Given the description of an element on the screen output the (x, y) to click on. 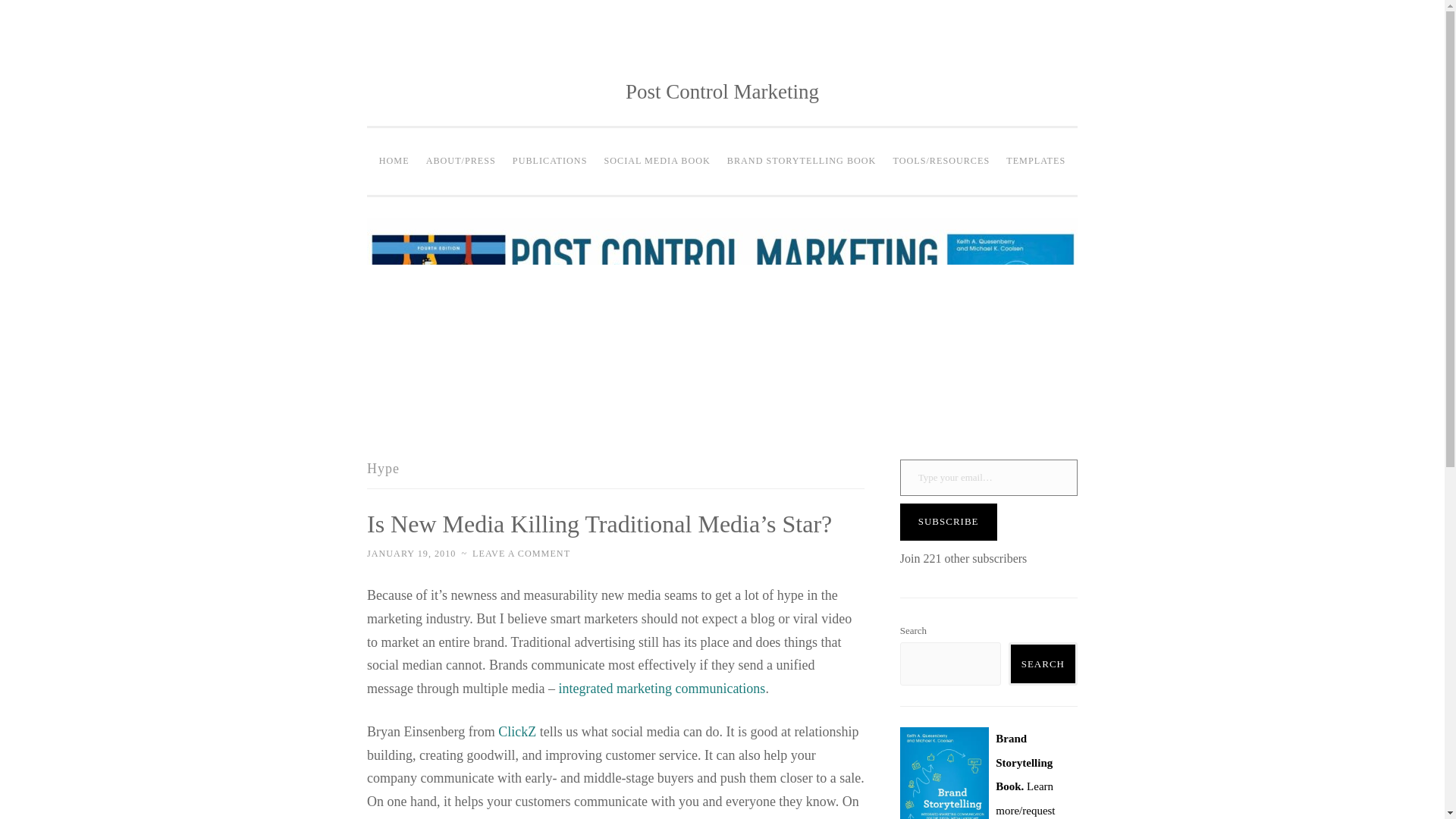
PUBLICATIONS (549, 161)
SEARCH (1043, 663)
ClickZ (516, 731)
Please fill in this field. (988, 477)
HOME (394, 161)
integrated marketing communications (661, 688)
SOCIAL MEDIA BOOK (656, 161)
BRAND STORYTELLING BOOK (801, 161)
Post Control Marketing (722, 91)
SUBSCRIBE (948, 521)
LEAVE A COMMENT (520, 552)
TEMPLATES (1034, 161)
JANUARY 19, 2010 (410, 552)
